Given the description of an element on the screen output the (x, y) to click on. 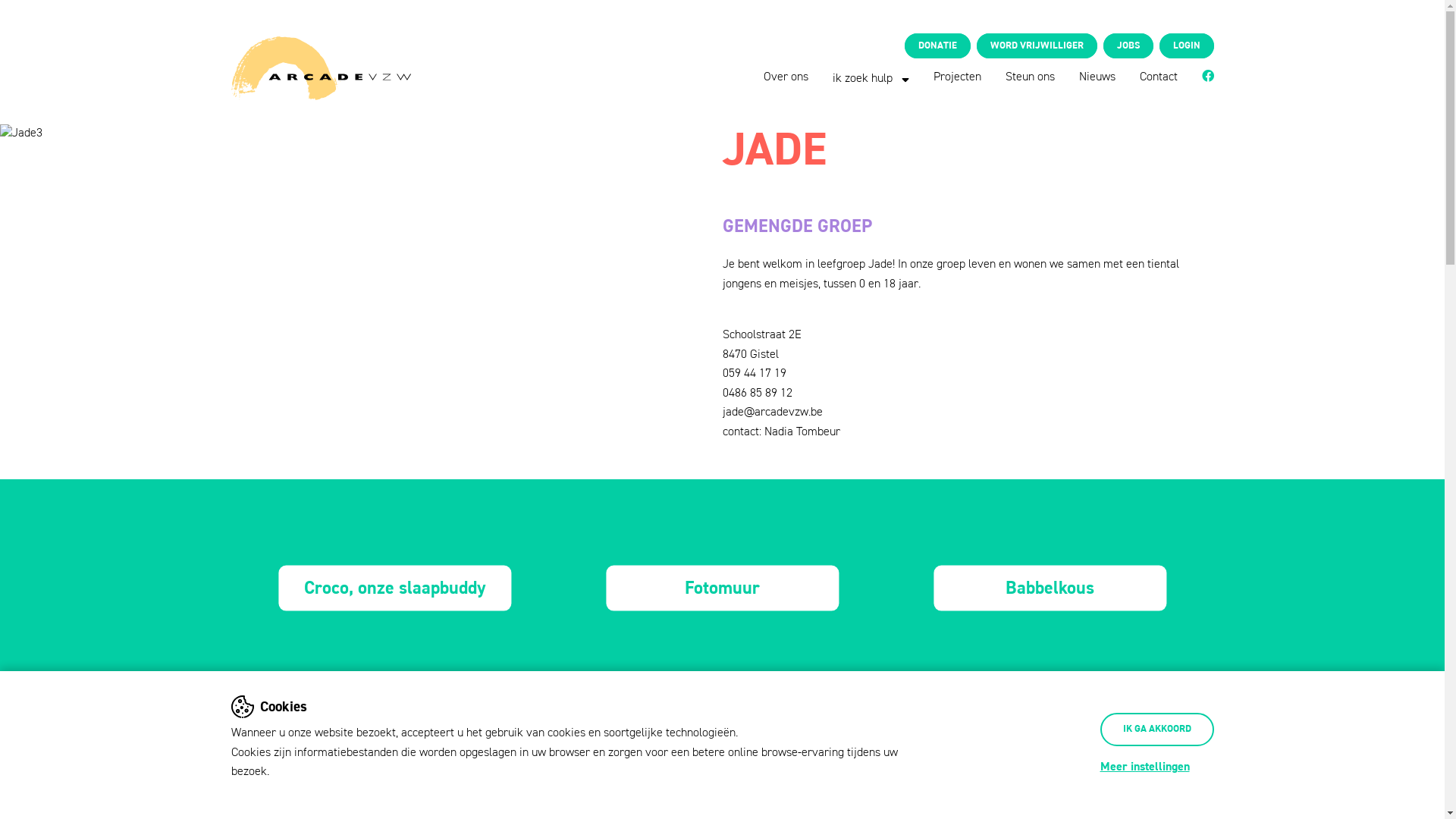
jade@arcadevzw.be Element type: text (771, 412)
Contact Element type: text (1157, 77)
ik zoek hulp Element type: text (870, 78)
Nieuws Element type: text (1096, 77)
0486 85 89 12 Element type: text (756, 393)
Steun ons Element type: text (1029, 77)
LOGIN Element type: text (1185, 45)
Meer instellingen Element type: text (1144, 767)
Jade3 Element type: hover (21, 134)
JOBS Element type: text (1127, 45)
Over ons Element type: text (785, 77)
DONATIE Element type: text (936, 45)
Projecten Element type: text (956, 77)
059 44 17 19 Element type: text (753, 373)
WORD VRIJWILLIGER Element type: text (1036, 45)
IK GA AKKOORD Element type: text (1156, 729)
